Given the description of an element on the screen output the (x, y) to click on. 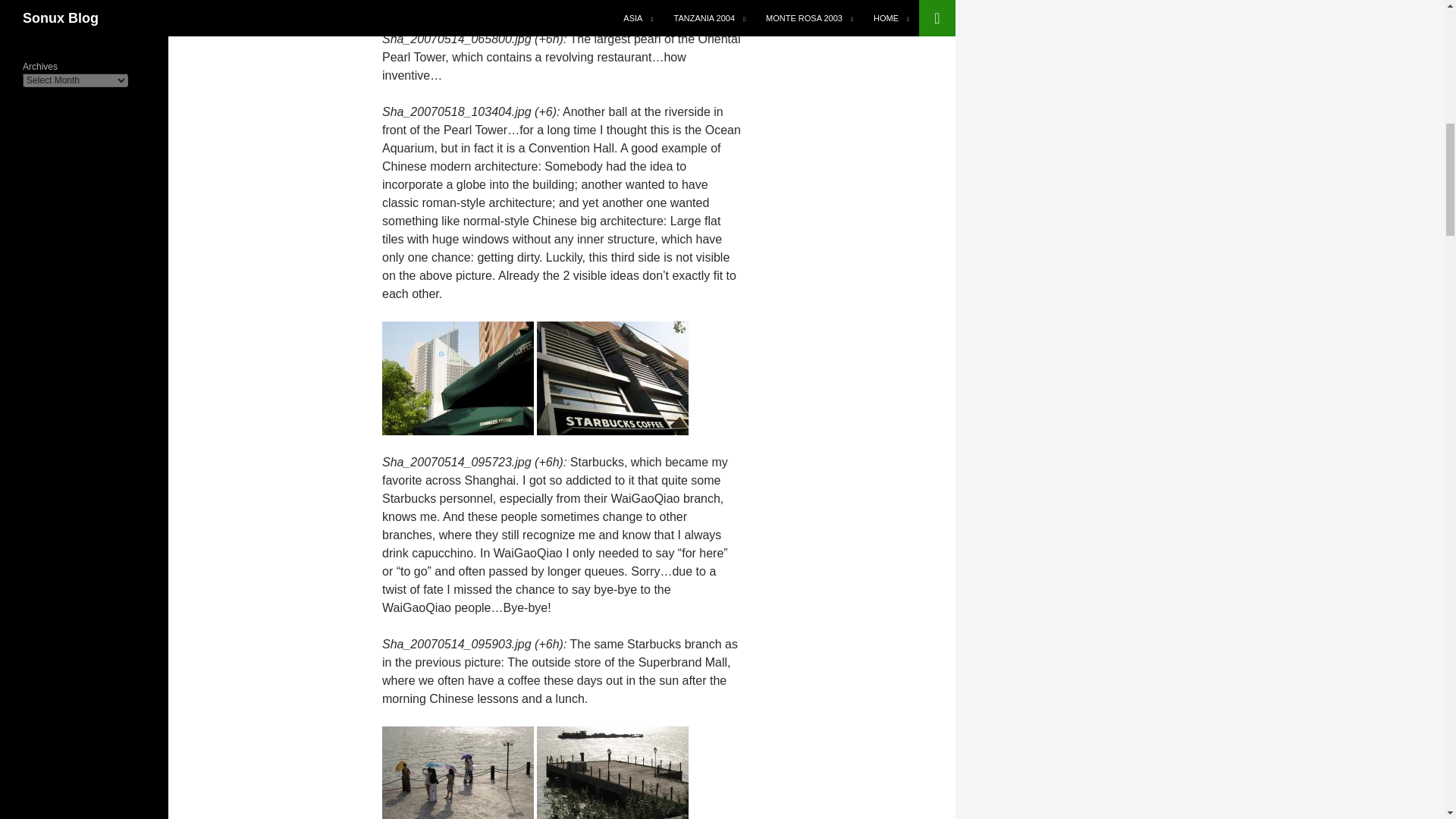
Sun Umbrella Parade (457, 781)
Starbucks under Observation (457, 377)
Super Brand Starbucks (612, 377)
